Given the description of an element on the screen output the (x, y) to click on. 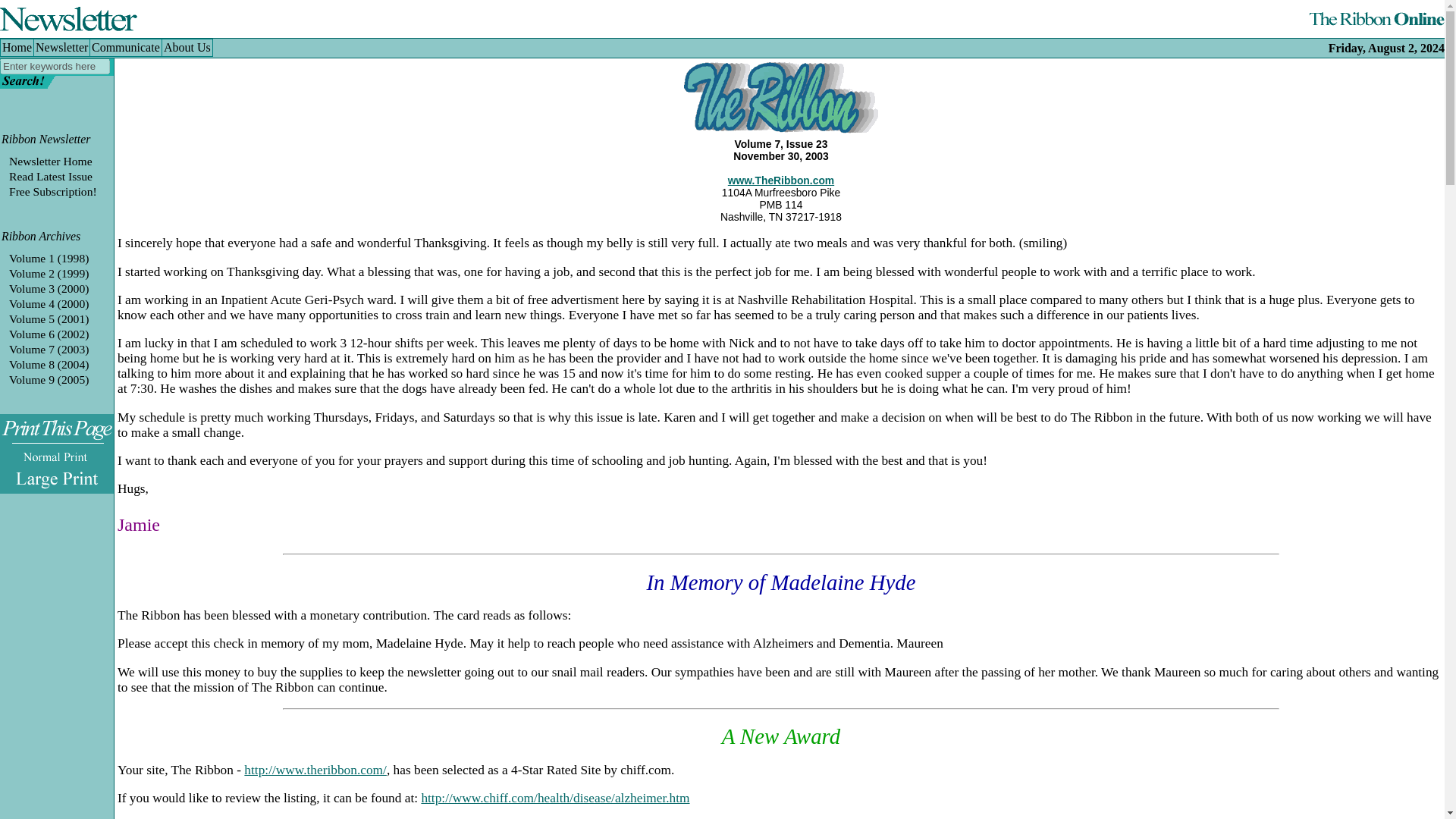
Find Alzheimer's related websites at Chiff.com (554, 798)
The Ribbon newsletter front page (50, 160)
www.TheRibbon.com (781, 180)
About Us (184, 44)
Newsletter Home (50, 160)
Ribbon Archives (40, 236)
Free Subscription! (52, 191)
Newsletter (60, 44)
Ribbon Newsletter (45, 138)
Care for Caregivers - TheRibbon.com (315, 769)
Enter keywords here (55, 66)
Get The Ribbon newsletter free by email. (52, 191)
Communicate (124, 44)
Read the latest issue of The Ribbon (50, 175)
Care for Caregivers - TheRibbon.com (781, 180)
